Given the description of an element on the screen output the (x, y) to click on. 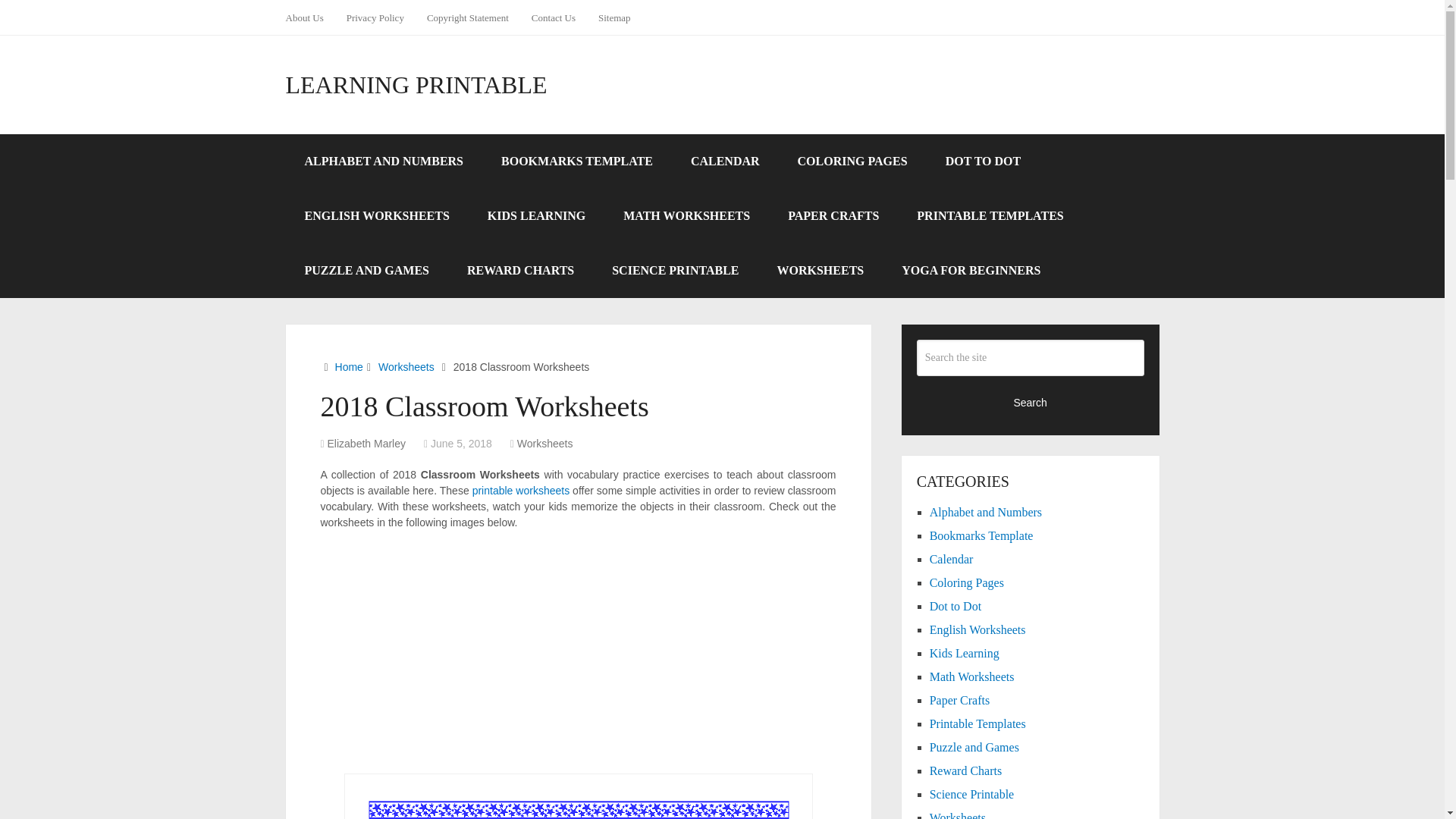
Home (348, 367)
Advertisement (577, 652)
Sitemap (614, 17)
BOOKMARKS TEMPLATE (576, 161)
printable worksheets (520, 490)
REWARD CHARTS (520, 270)
Worksheets (544, 443)
LEARNING PRINTABLE (416, 84)
KIDS LEARNING (536, 216)
WORKSHEETS (820, 270)
